Given the description of an element on the screen output the (x, y) to click on. 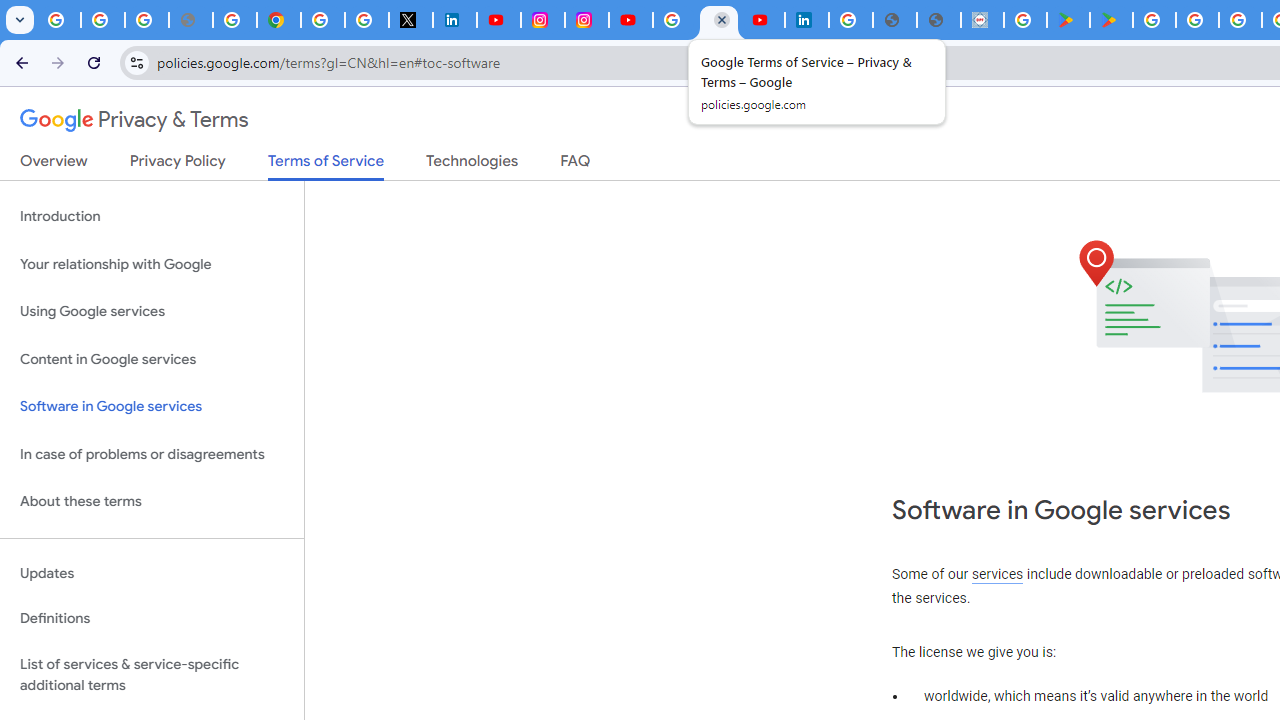
Content in Google services (152, 358)
Privacy Help Center - Policies Help (234, 20)
In case of problems or disagreements (152, 453)
services (997, 574)
Definitions (152, 619)
Android Apps on Google Play (1068, 20)
